Given the description of an element on the screen output the (x, y) to click on. 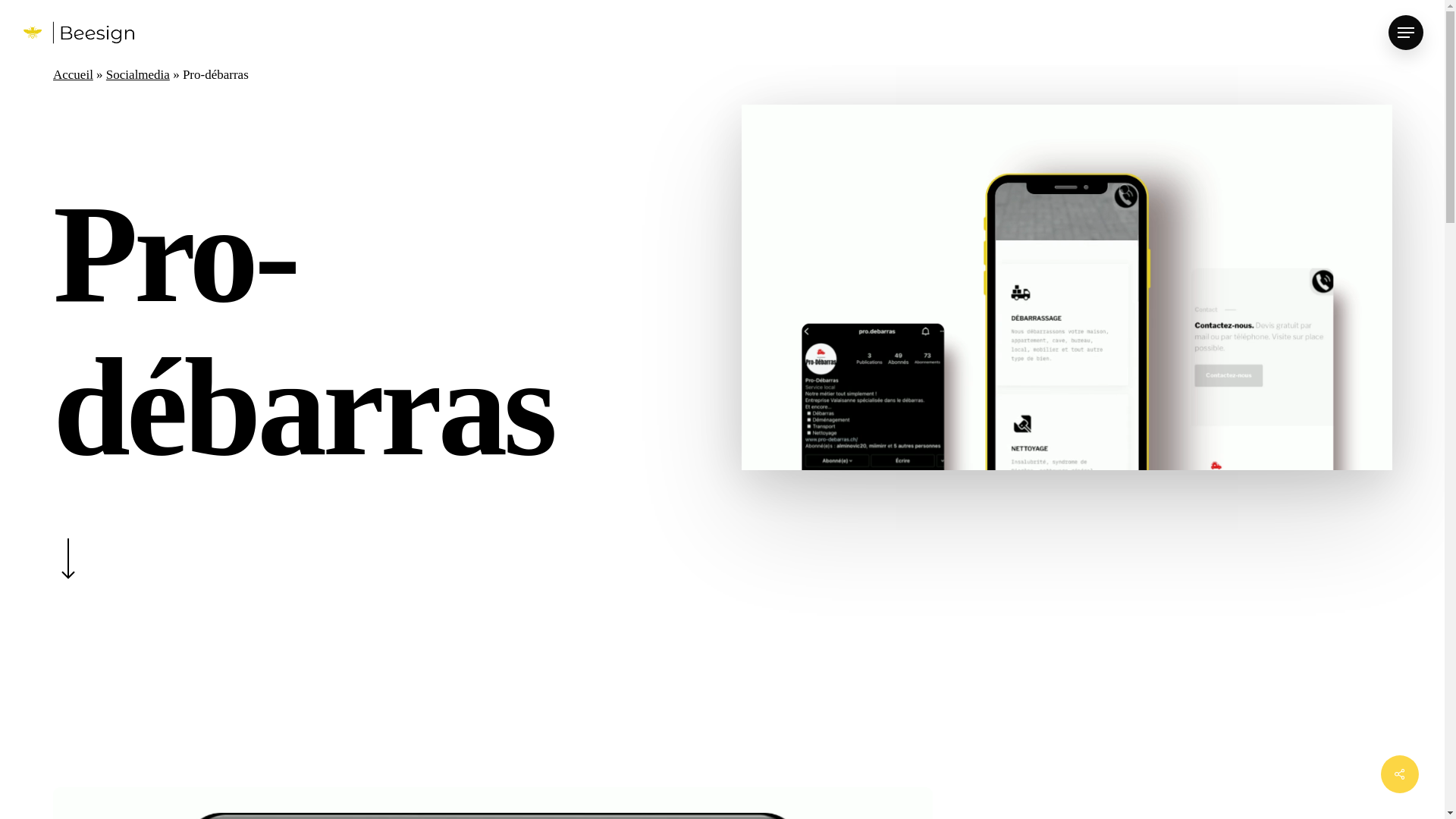
Socialmedia Element type: text (137, 74)
Accueil Element type: text (73, 74)
Menu Element type: text (1405, 32)
